Given the description of an element on the screen output the (x, y) to click on. 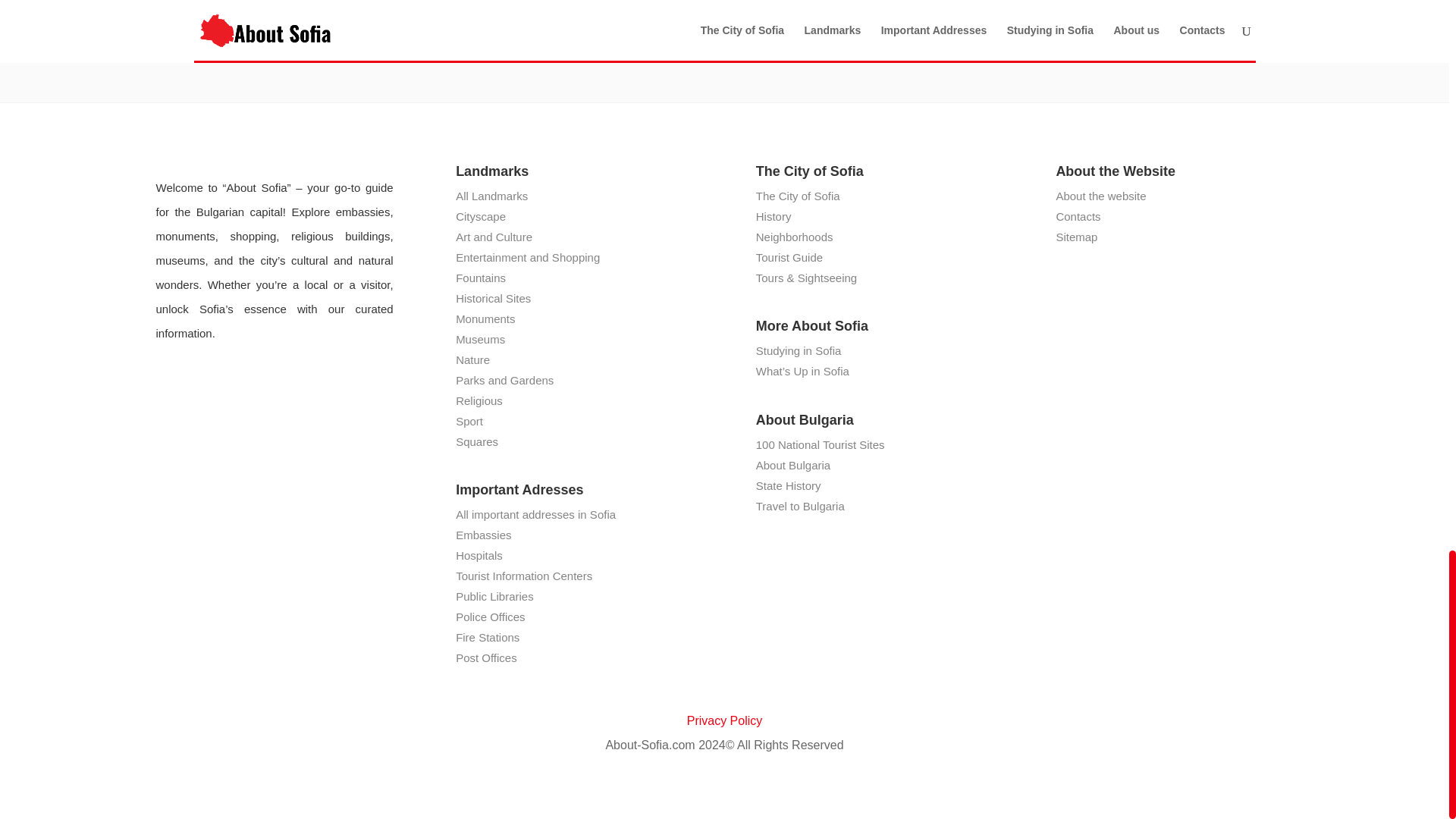
All Landmarks (491, 195)
Podlozishte (980, 5)
Kremikovtsi housing complex (724, 5)
Cityscape (480, 215)
Podlozishte (980, 5)
Kremikovtsi housing complex (724, 5)
